Given the description of an element on the screen output the (x, y) to click on. 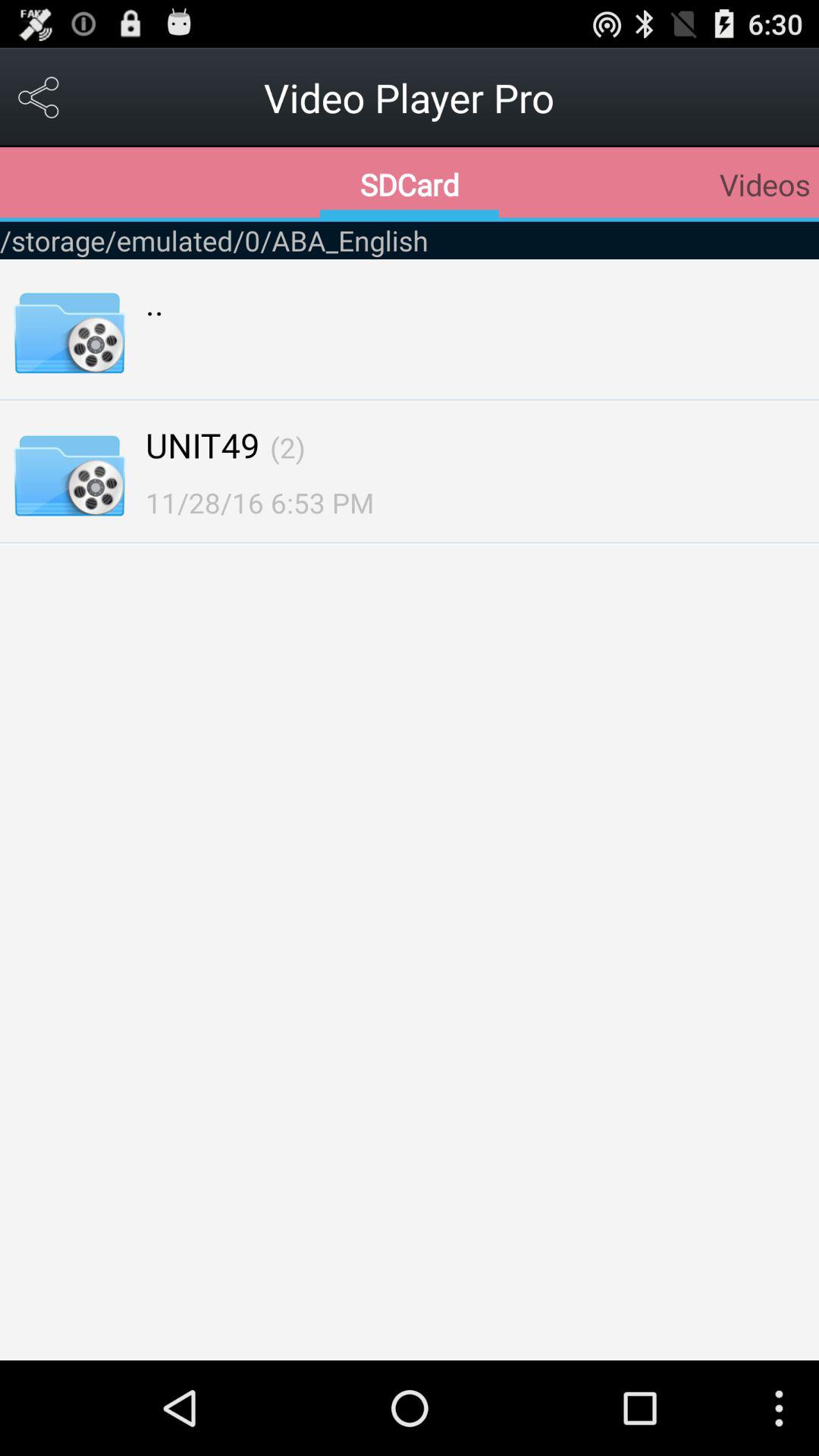
press (2) icon (287, 447)
